Given the description of an element on the screen output the (x, y) to click on. 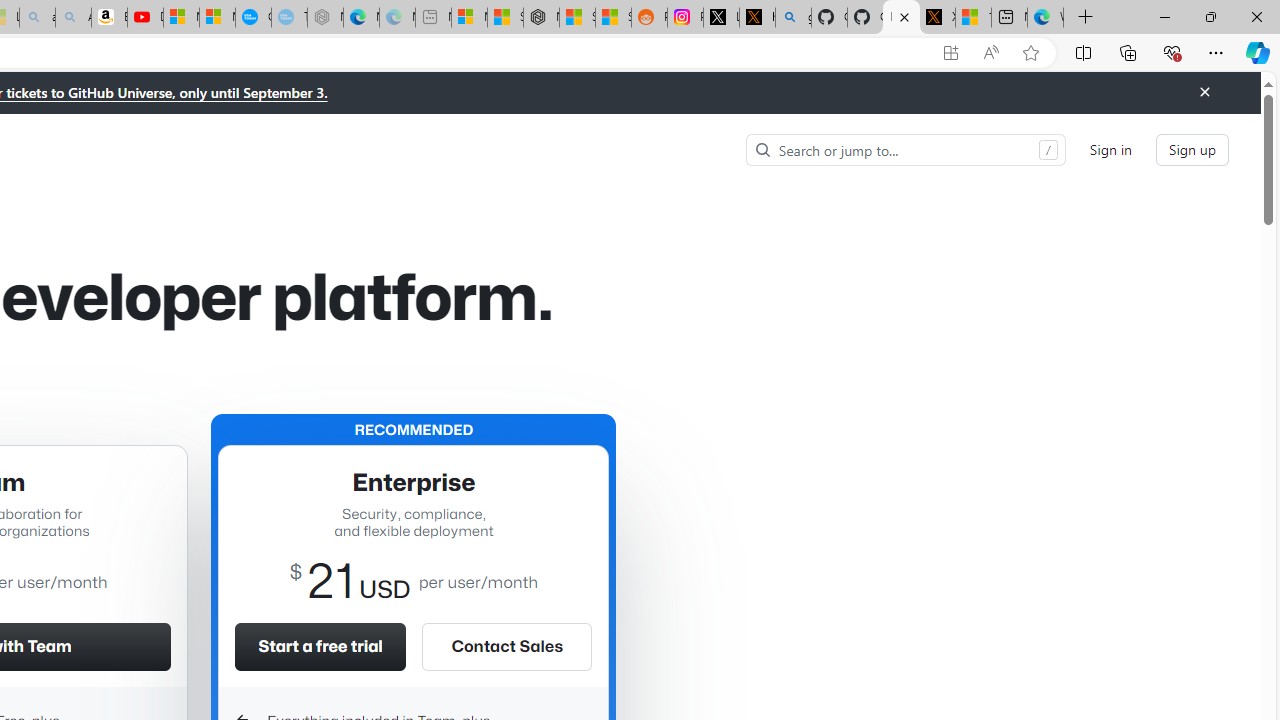
X Privacy Policy (937, 17)
Contact Sales (506, 646)
Amazon Echo Dot PNG - Search Images - Sleeping (73, 17)
Sign in (1110, 149)
Opinion: Op-Ed and Commentary - USA TODAY (253, 17)
Start a free trial (320, 646)
Day 1: Arriving in Yemen (surreal to be here) - YouTube (145, 17)
